Given the description of an element on the screen output the (x, y) to click on. 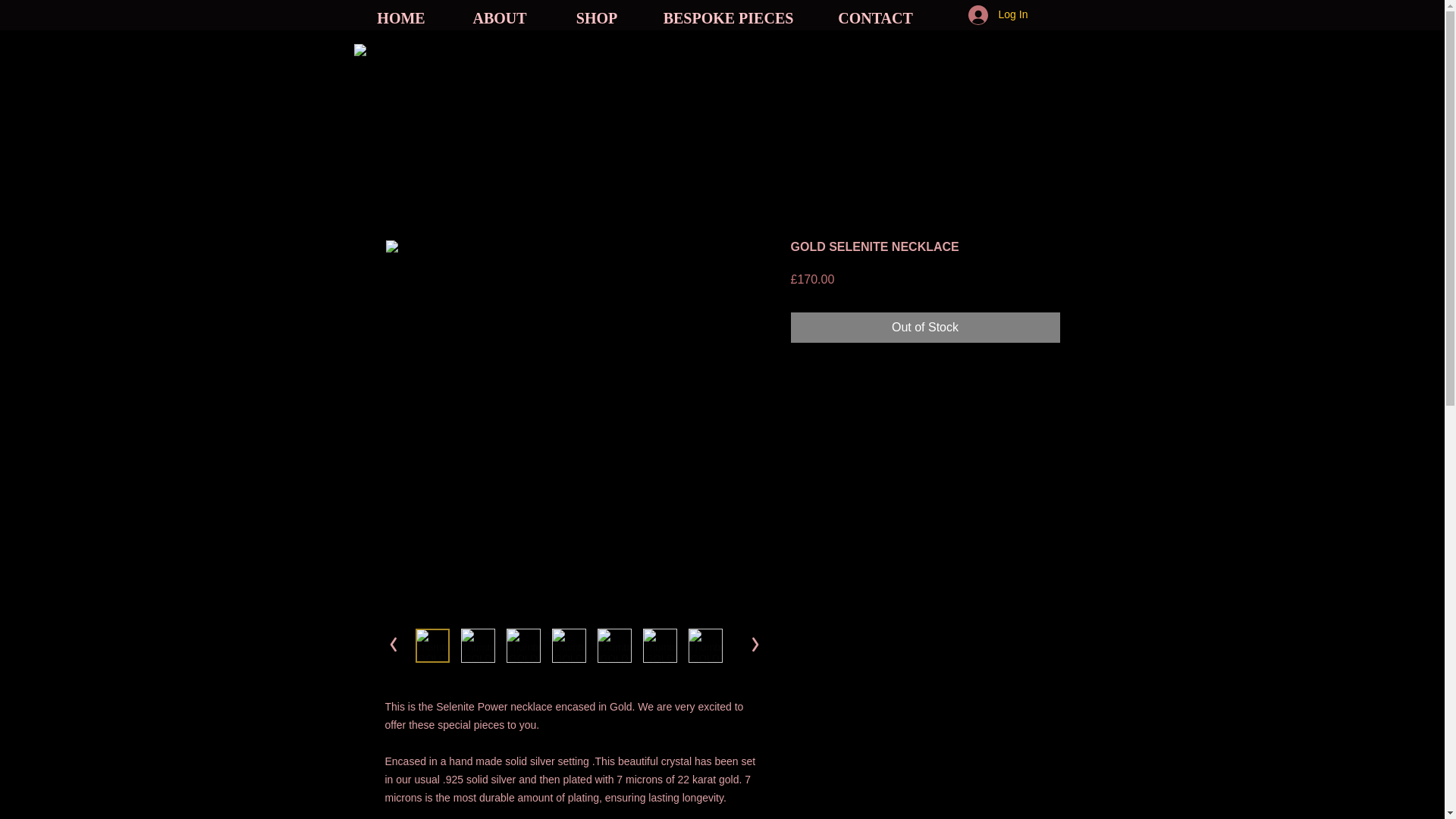
SHOP (596, 17)
ABOUT (499, 17)
Out of Stock (924, 327)
CONTACT (875, 17)
Log In (986, 14)
BESPOKE PIECES (728, 17)
HOME (400, 17)
